Given the description of an element on the screen output the (x, y) to click on. 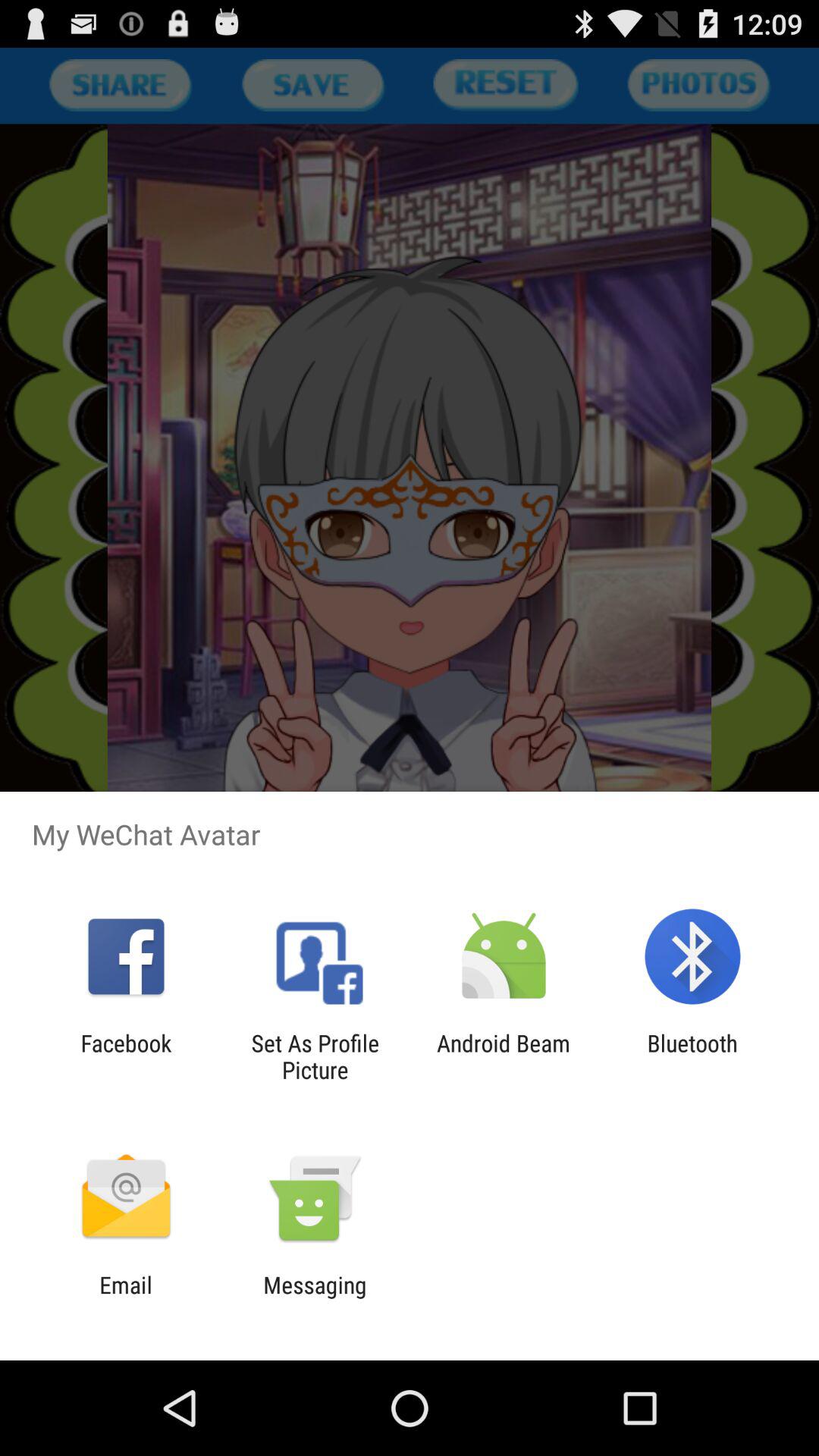
press item to the left of set as profile (125, 1056)
